Given the description of an element on the screen output the (x, y) to click on. 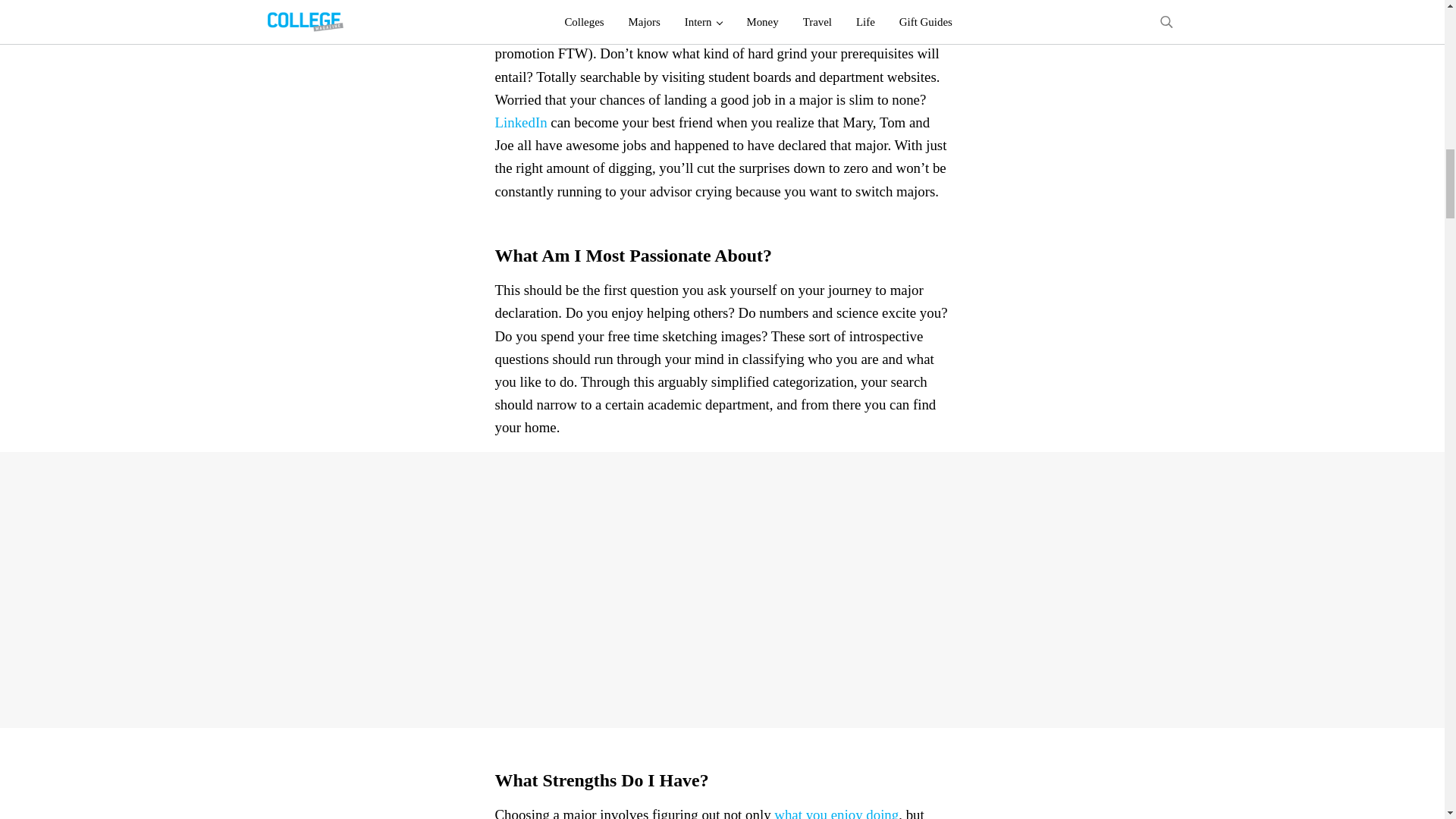
what you enjoy doing (836, 812)
major guides (776, 30)
LinkedIn (521, 122)
